Given the description of an element on the screen output the (x, y) to click on. 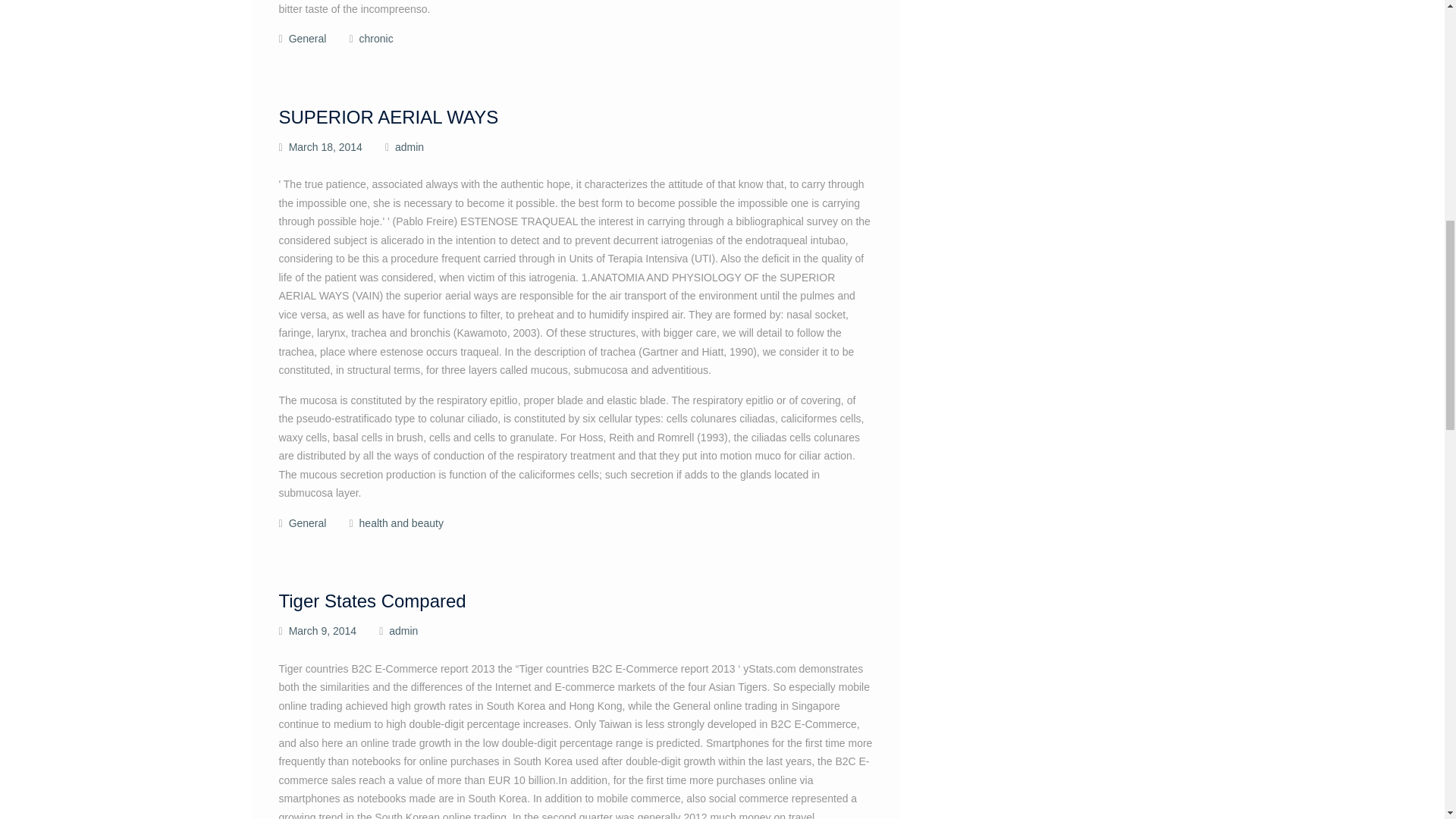
health and beauty (401, 522)
General (307, 522)
chronic (376, 38)
March 18, 2014 (325, 146)
March 9, 2014 (322, 630)
Tiger States Compared (372, 600)
admin (402, 630)
General (307, 38)
SUPERIOR AERIAL WAYS (389, 117)
admin (408, 146)
